Given the description of an element on the screen output the (x, y) to click on. 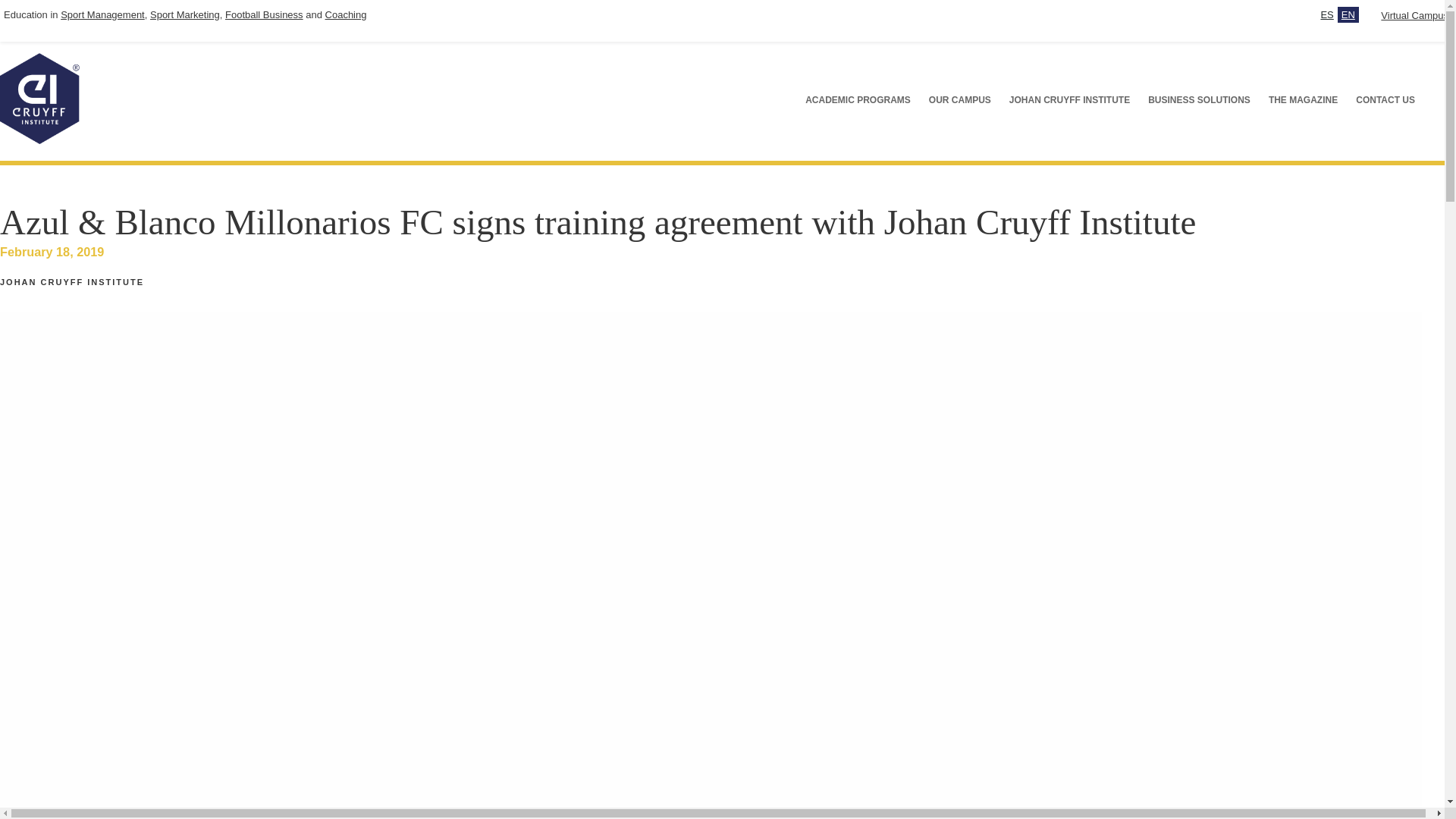
ES (1326, 14)
BUSINESS SOLUTIONS (1198, 100)
JOHAN CRUYFF INSTITUTE (1069, 100)
Coaching (345, 14)
Sport Marketing (184, 14)
Johan Cruyff Institute (40, 140)
ACADEMIC PROGRAMS (858, 100)
Sport Management (102, 14)
EN (1348, 14)
THE MAGAZINE (1302, 100)
